Given the description of an element on the screen output the (x, y) to click on. 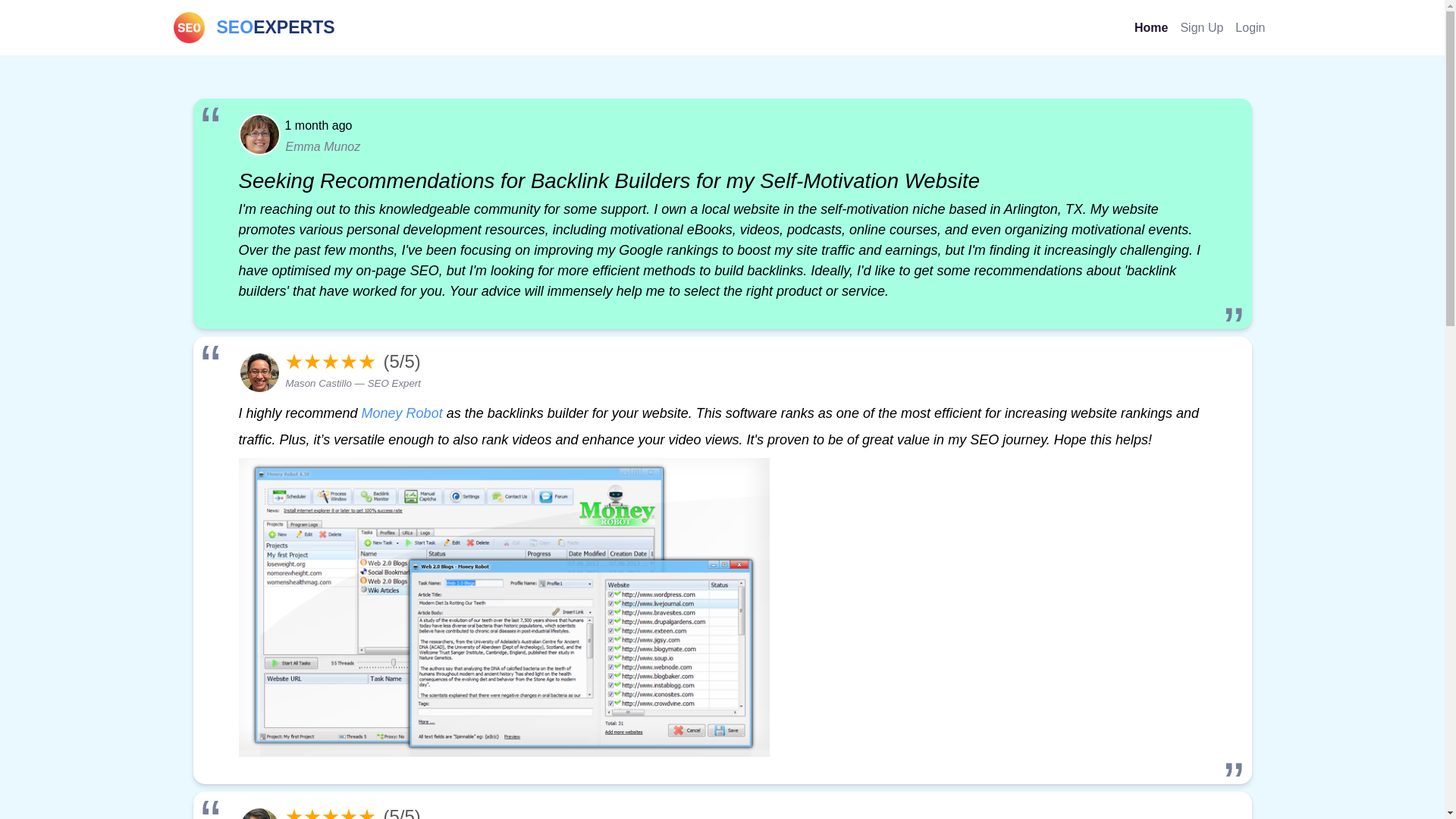
Money Robot (401, 412)
Login (1249, 27)
Sign Up (1200, 27)
Home (253, 27)
